Given the description of an element on the screen output the (x, y) to click on. 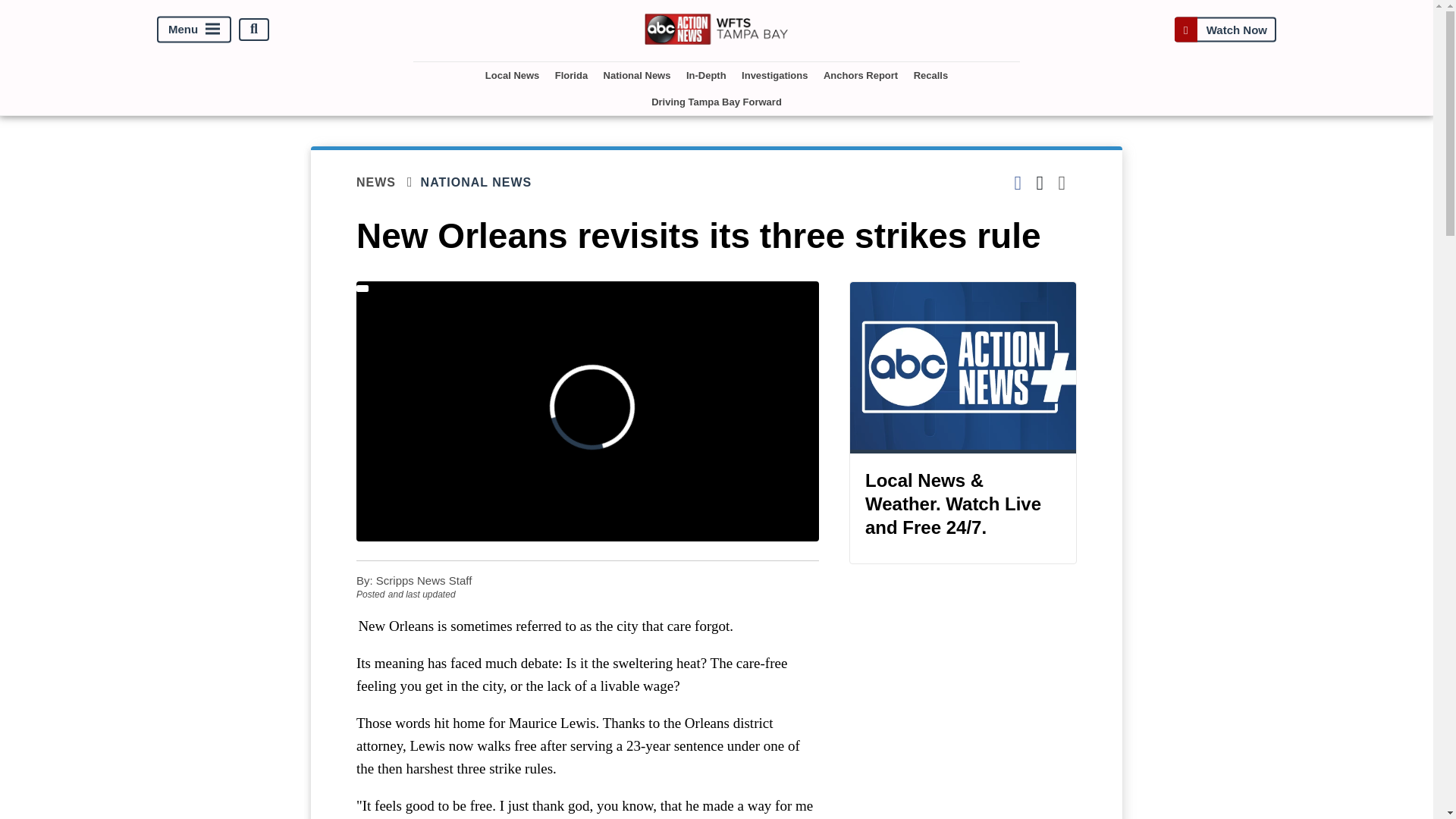
Menu (194, 28)
Watch Now (1224, 29)
